Given the description of an element on the screen output the (x, y) to click on. 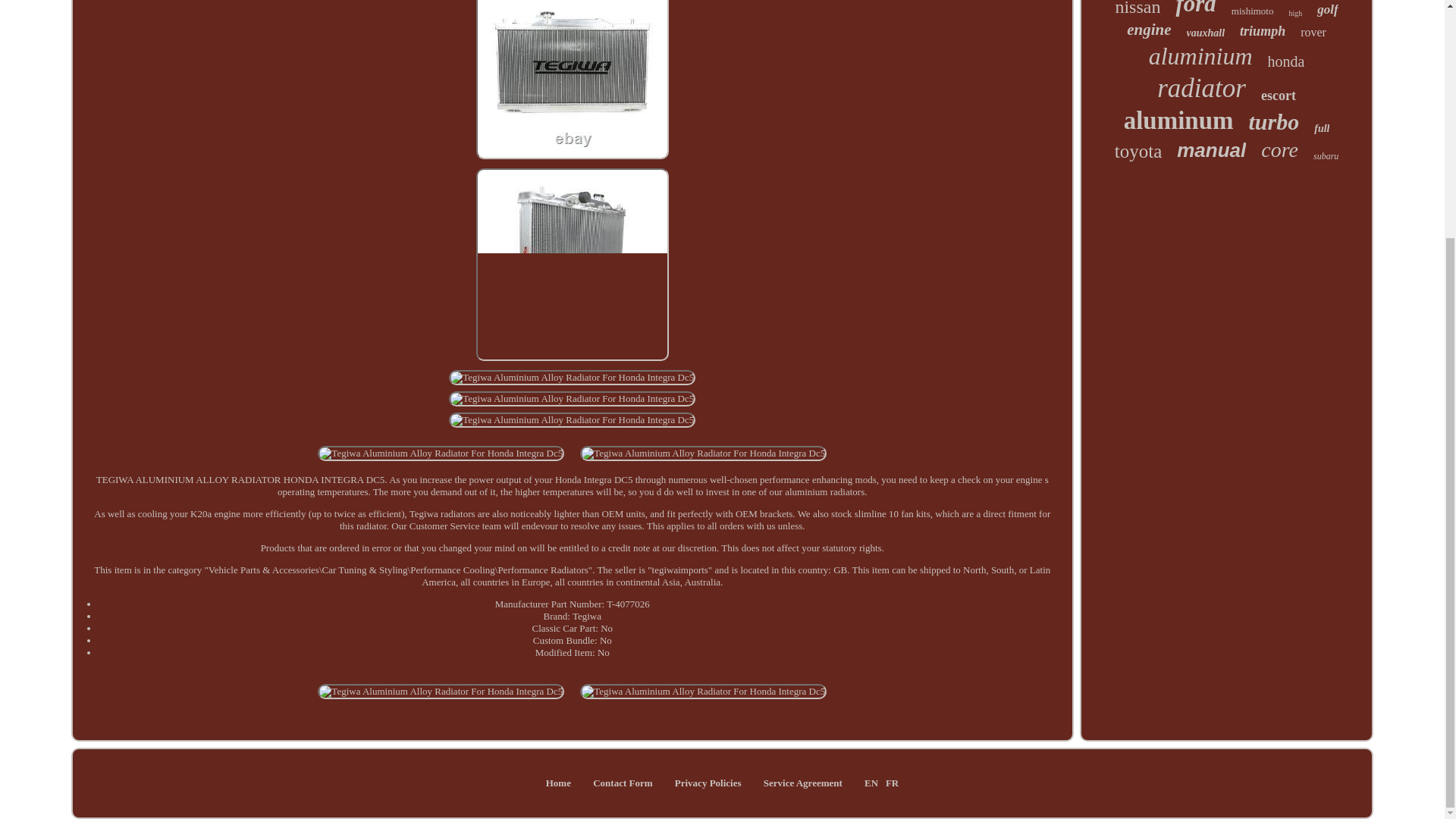
Tegiwa Aluminium Alloy Radiator For Honda Integra Dc5 (572, 264)
Tegiwa Aluminium Alloy Radiator For Honda Integra Dc5 (703, 453)
Tegiwa Aluminium Alloy Radiator For Honda Integra Dc5 (571, 398)
Tegiwa Aluminium Alloy Radiator For Honda Integra Dc5 (572, 79)
Tegiwa Aluminium Alloy Radiator For Honda Integra Dc5 (440, 453)
Tegiwa Aluminium Alloy Radiator For Honda Integra Dc5 (440, 691)
Tegiwa Aluminium Alloy Radiator For Honda Integra Dc5 (571, 419)
Tegiwa Aluminium Alloy Radiator For Honda Integra Dc5 (571, 377)
Tegiwa Aluminium Alloy Radiator For Honda Integra Dc5 (703, 691)
